Given the description of an element on the screen output the (x, y) to click on. 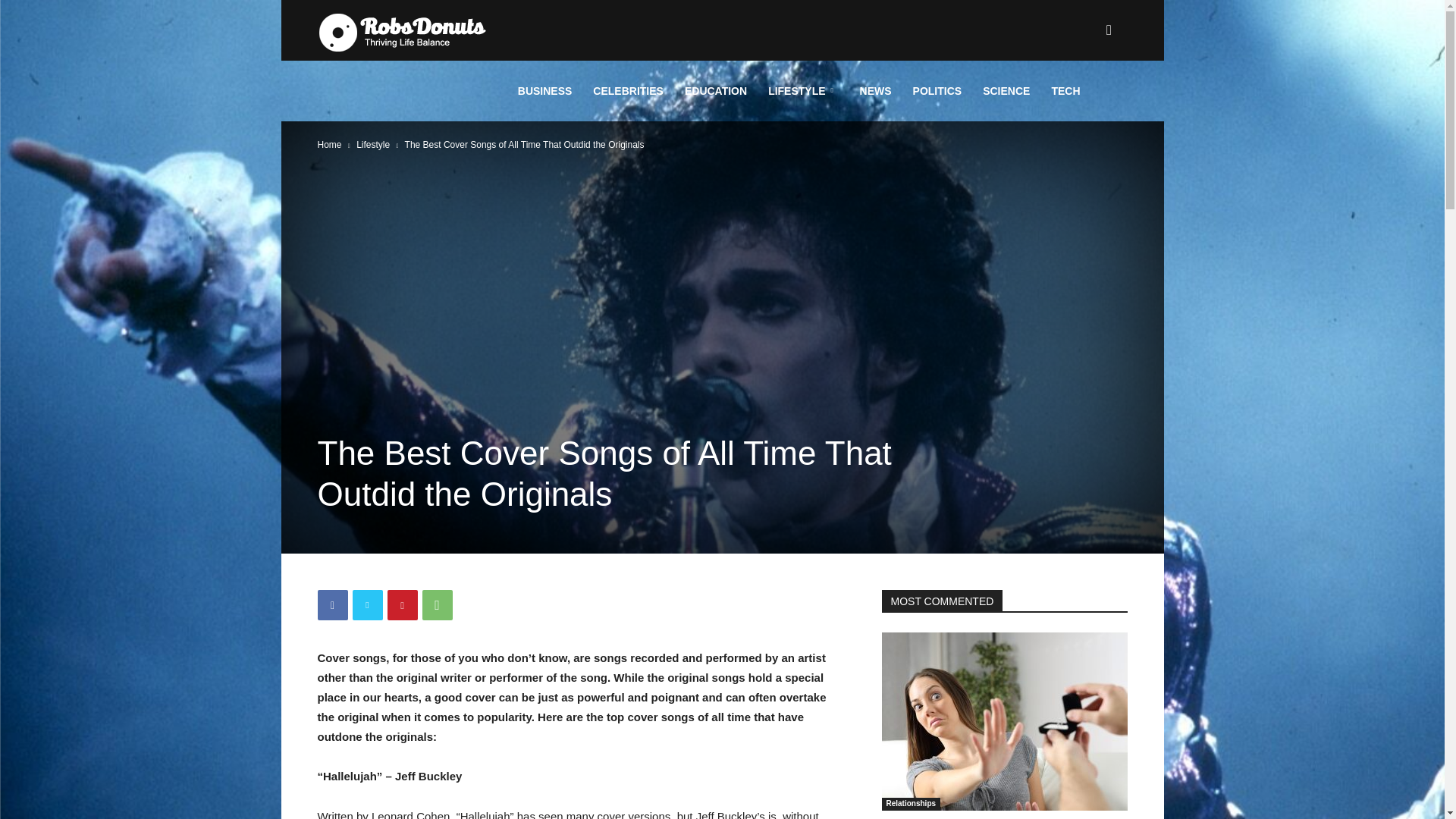
WhatsApp (436, 604)
Facebook (332, 604)
Twitter (366, 604)
BUSINESS (544, 90)
EDUCATION (715, 90)
CELEBRITIES (628, 90)
LIFESTYLE (802, 90)
Search (1085, 102)
View all posts in Lifestyle (373, 144)
Robsdonuts (401, 30)
Pinterest (401, 604)
